Given the description of an element on the screen output the (x, y) to click on. 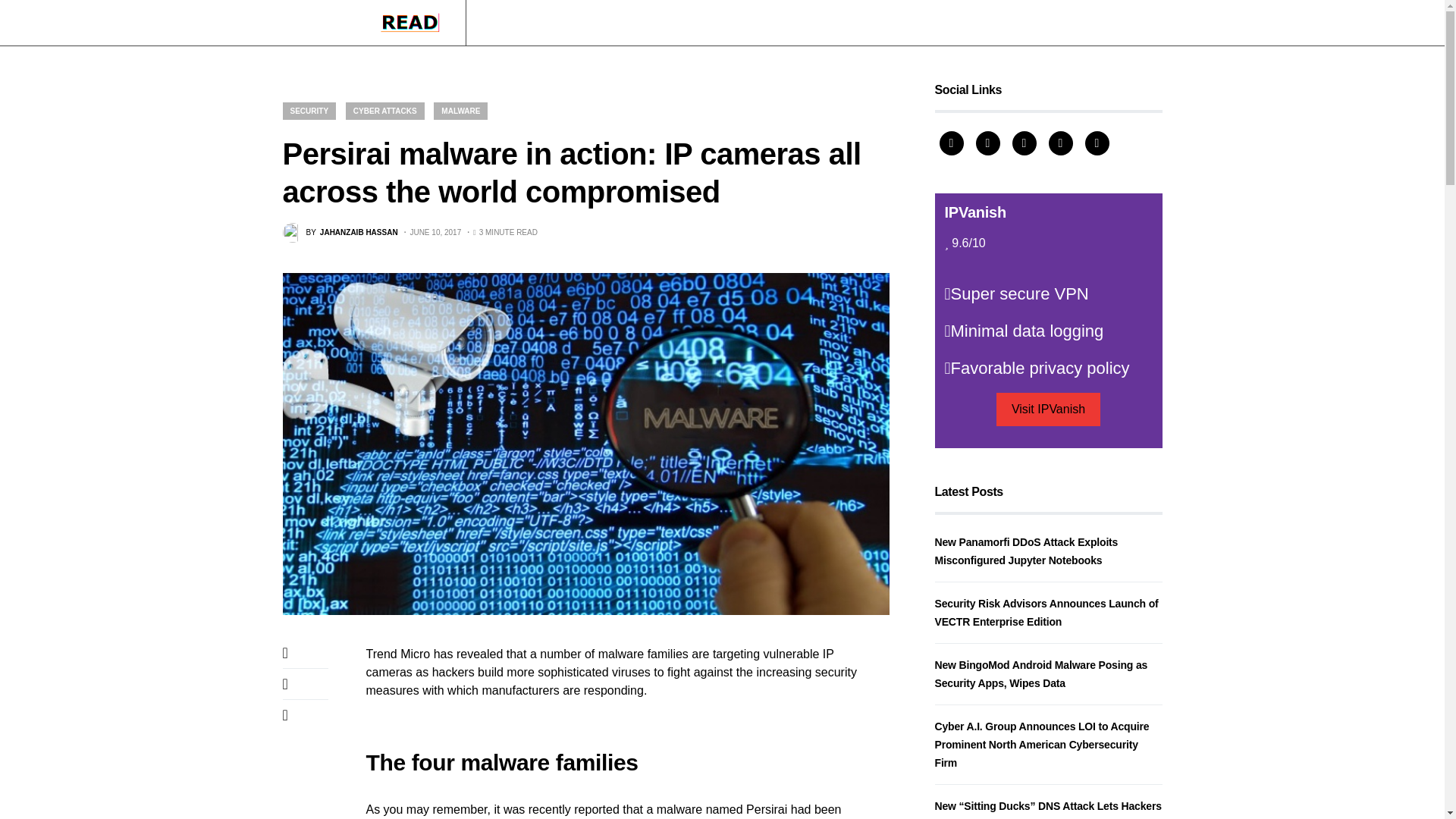
Technology (597, 22)
View all posts by Jahanzaib Hassan (339, 232)
Hacking News (518, 22)
